Given the description of an element on the screen output the (x, y) to click on. 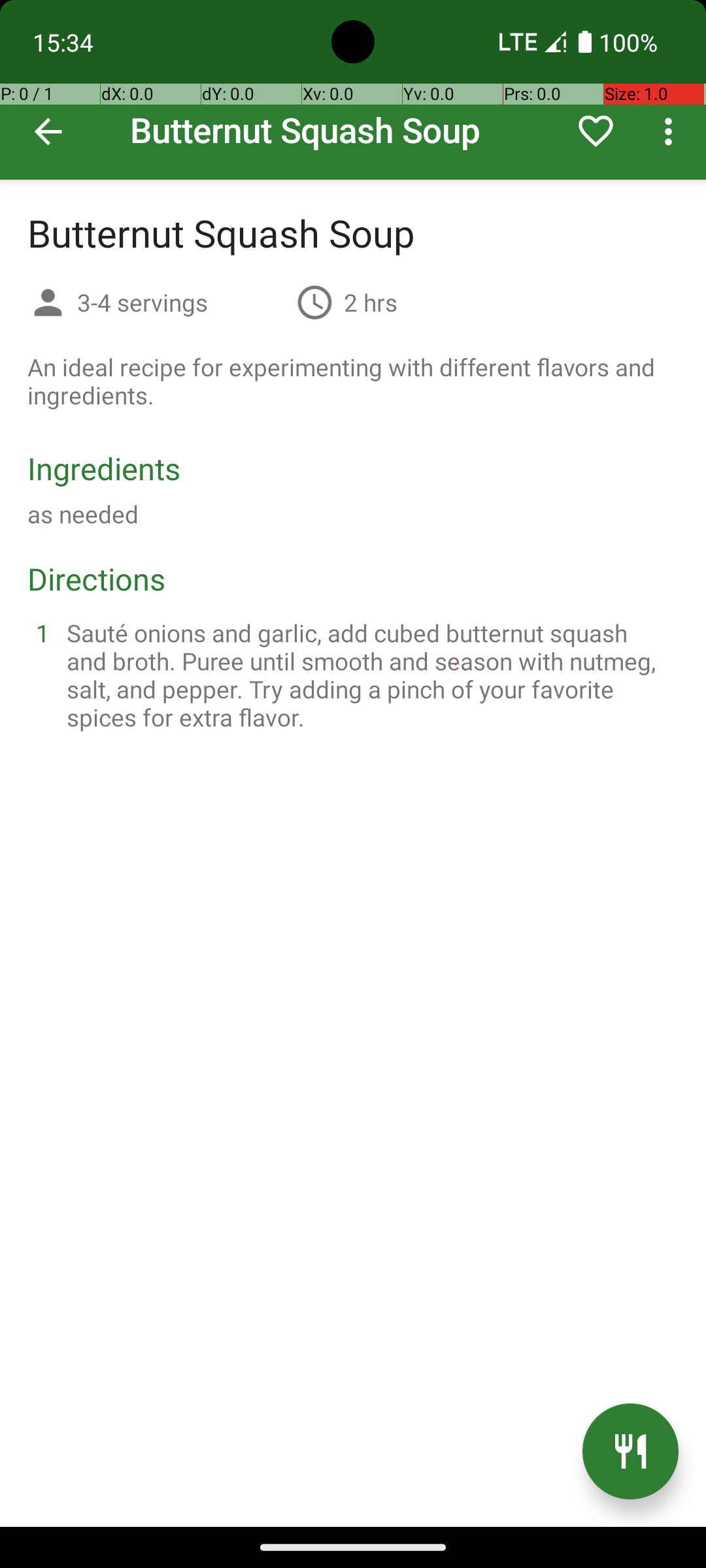
Sauté onions and garlic, add cubed butternut squash and broth. Puree until smooth and season with nutmeg, salt, and pepper. Try adding a pinch of your favorite spices for extra flavor. Element type: android.widget.TextView (368, 674)
